Given the description of an element on the screen output the (x, y) to click on. 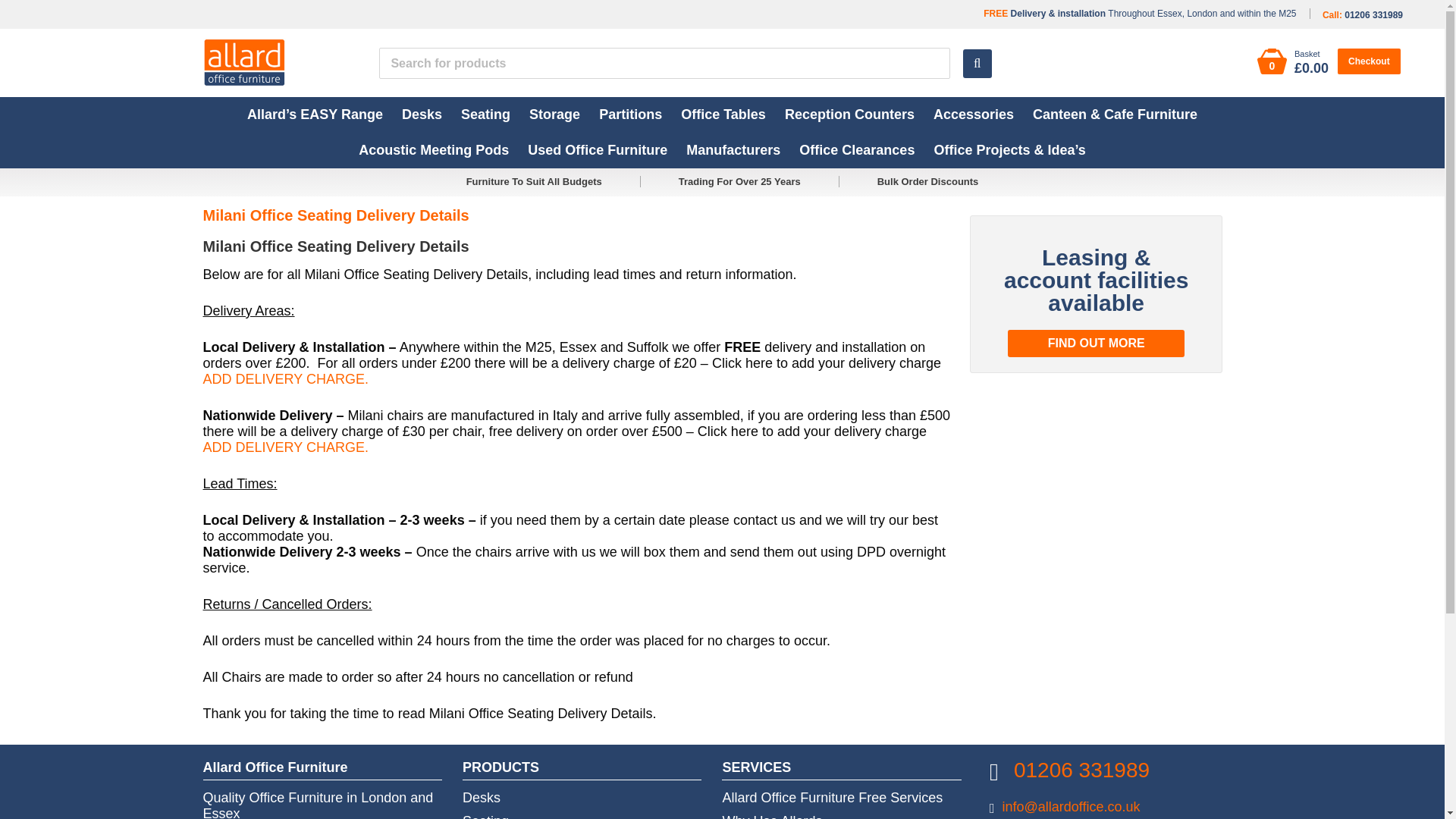
FIND OUT MORE (1096, 343)
View your shopping cart (1293, 62)
Checkout (1369, 61)
Allard Office Furniture (244, 61)
